Given the description of an element on the screen output the (x, y) to click on. 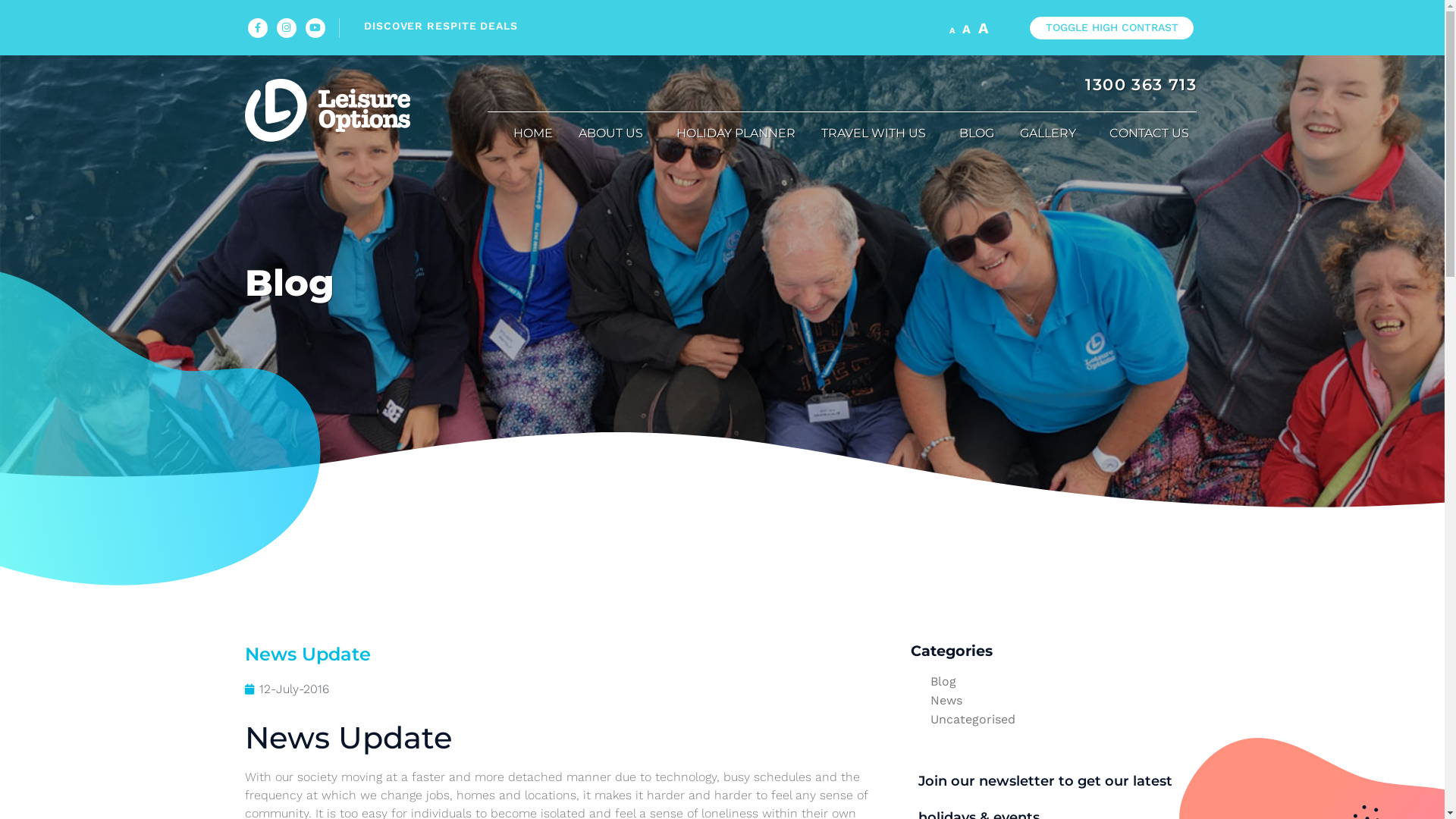
TOGGLE HIGH CONTRAST Element type: text (1111, 27)
Uncategorised Element type: text (972, 719)
A Element type: text (951, 30)
ABOUT US Element type: text (614, 133)
DISCOVER RESPITE DEALS Element type: text (644, 26)
HOME Element type: text (532, 133)
News Element type: text (946, 700)
TRAVEL WITH US Element type: text (877, 133)
A Element type: text (983, 27)
A Element type: text (966, 28)
GALLERY Element type: text (1051, 133)
CONTACT US Element type: text (1146, 133)
HOLIDAY PLANNER Element type: text (735, 133)
BLOG Element type: text (976, 133)
Blog Element type: text (943, 681)
